Given the description of an element on the screen output the (x, y) to click on. 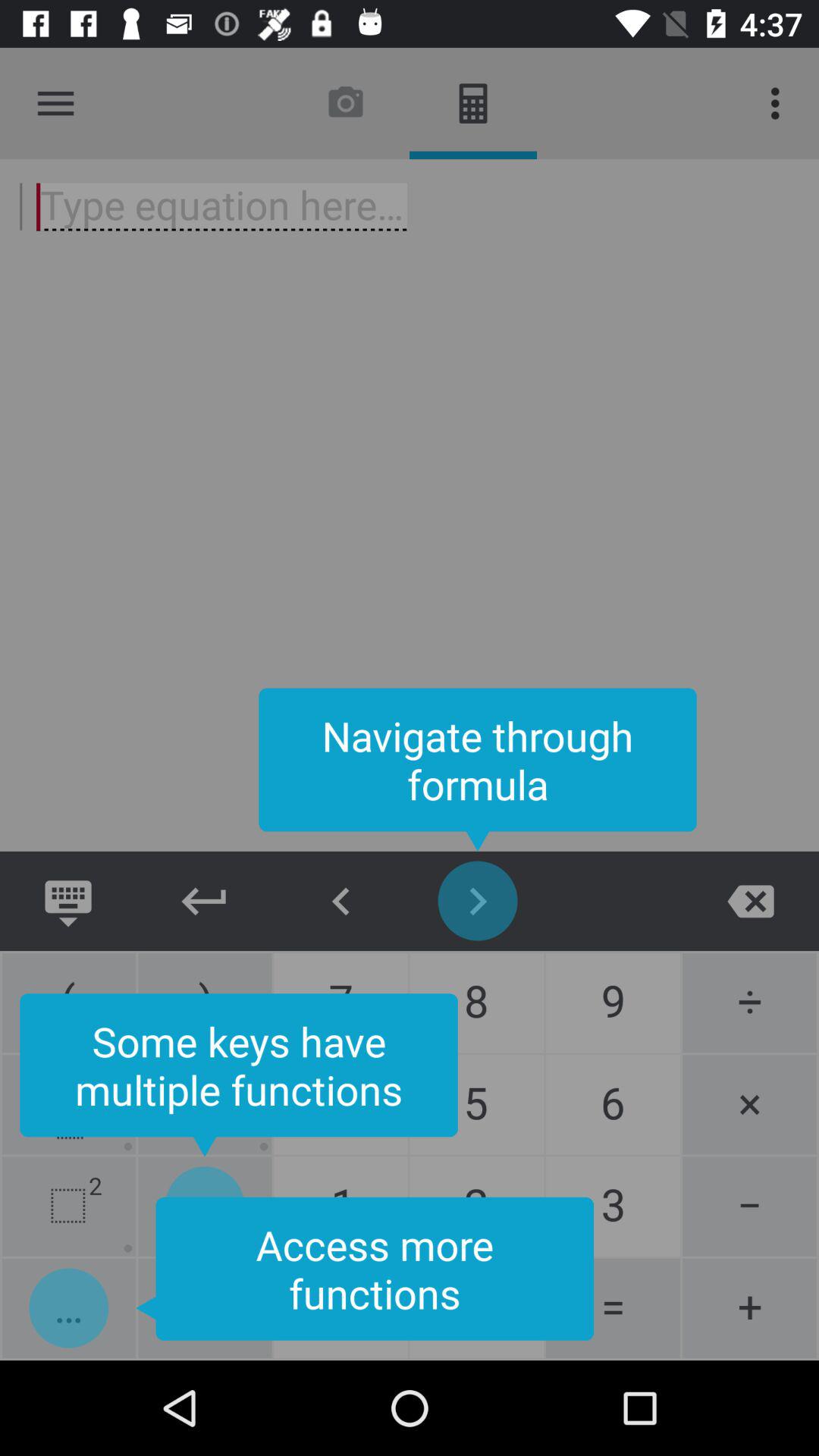
go forward (477, 900)
